Given the description of an element on the screen output the (x, y) to click on. 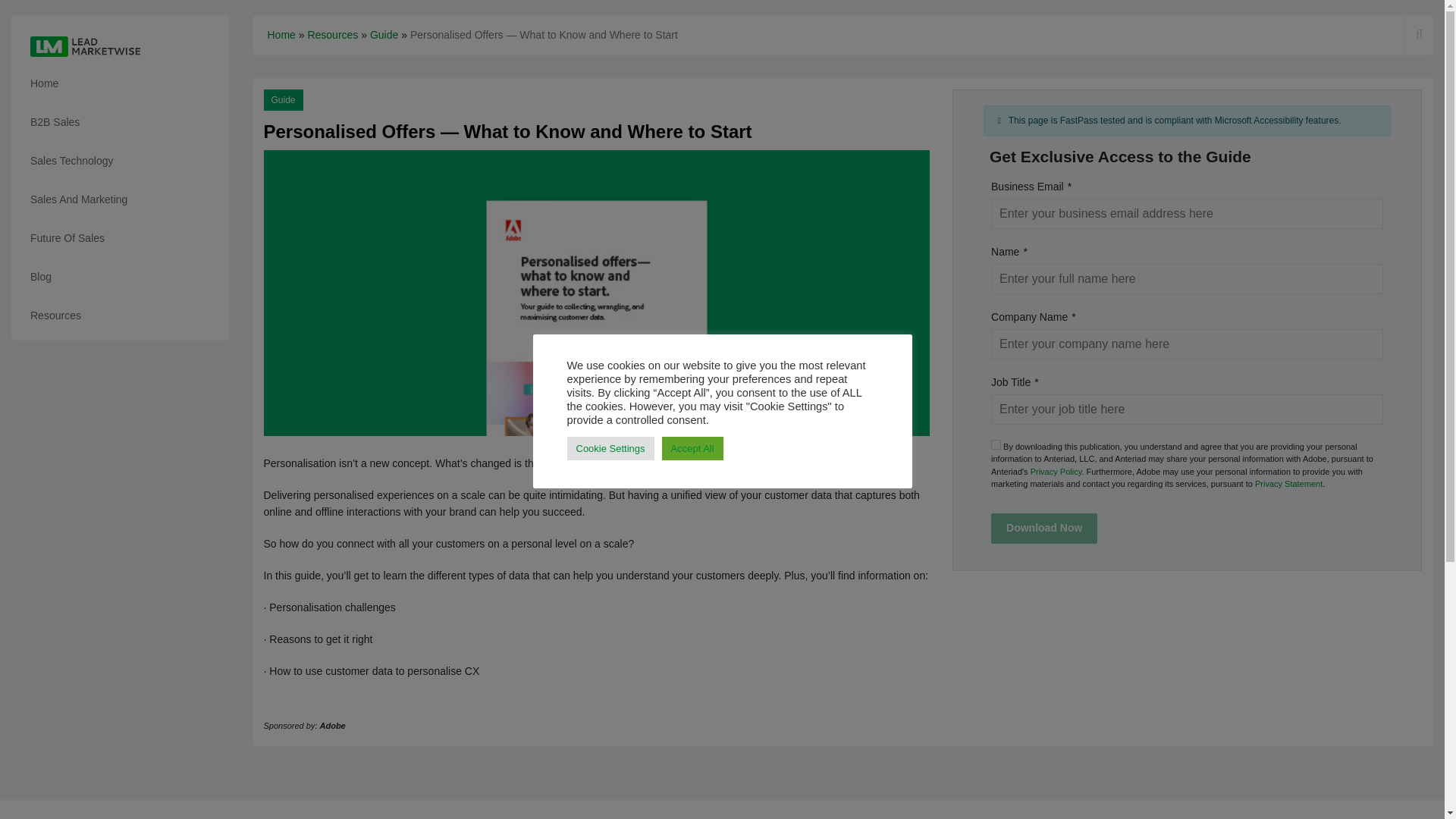
Home (120, 83)
Enter your job title here (1187, 409)
Enter your full name here (1187, 278)
Sales Technology (120, 160)
Sales And Marketing (120, 199)
B2B Sales (120, 122)
Blog (120, 277)
Privacy Statement (1288, 483)
Resources (120, 315)
Home (280, 34)
Resources (332, 34)
Enter your company name here (1187, 344)
on (996, 444)
Future Of Sales (120, 238)
Download Now (1044, 528)
